Given the description of an element on the screen output the (x, y) to click on. 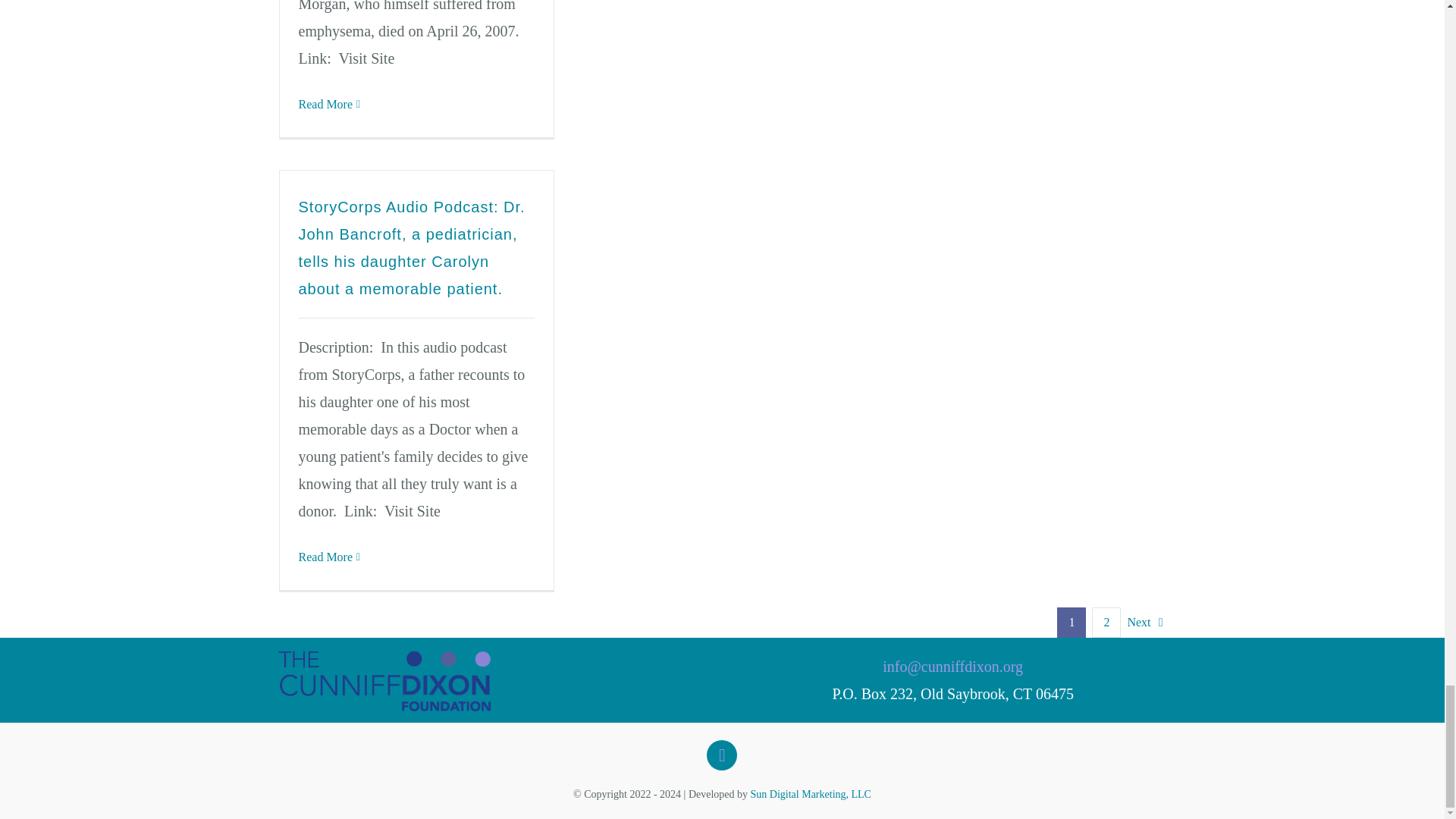
Facebook (721, 755)
